Given the description of an element on the screen output the (x, y) to click on. 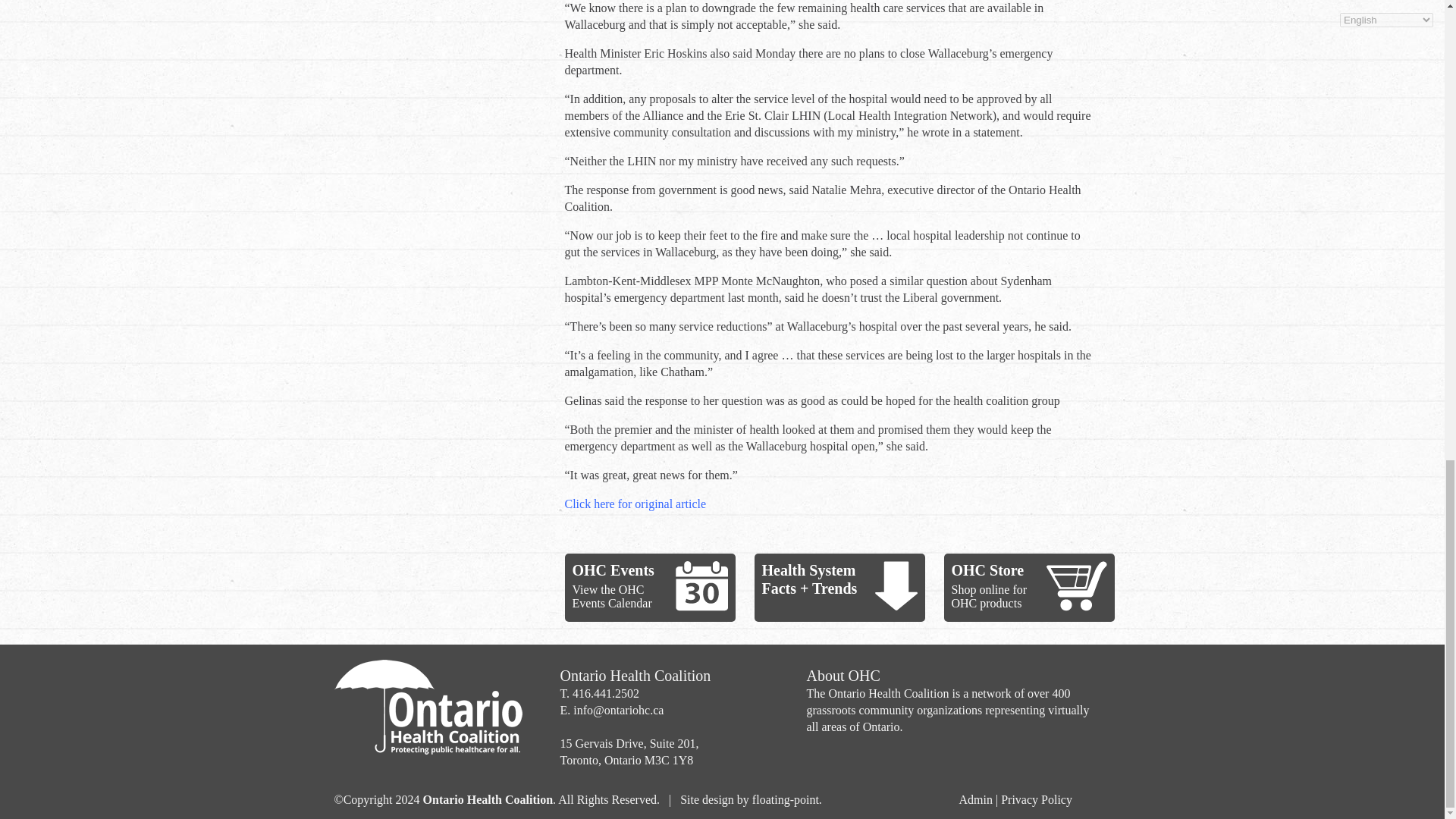
OHC Events (612, 569)
floating-point (785, 799)
Click here for original article (635, 503)
Shop online for OHC products (988, 596)
Ontario Health Coalition Store (1076, 585)
Ontario Health Coalition Events (700, 585)
View the OHC Events Calendar (611, 596)
Privacy Policy (1036, 799)
Admin (974, 799)
OHC Store (986, 569)
